Given the description of an element on the screen output the (x, y) to click on. 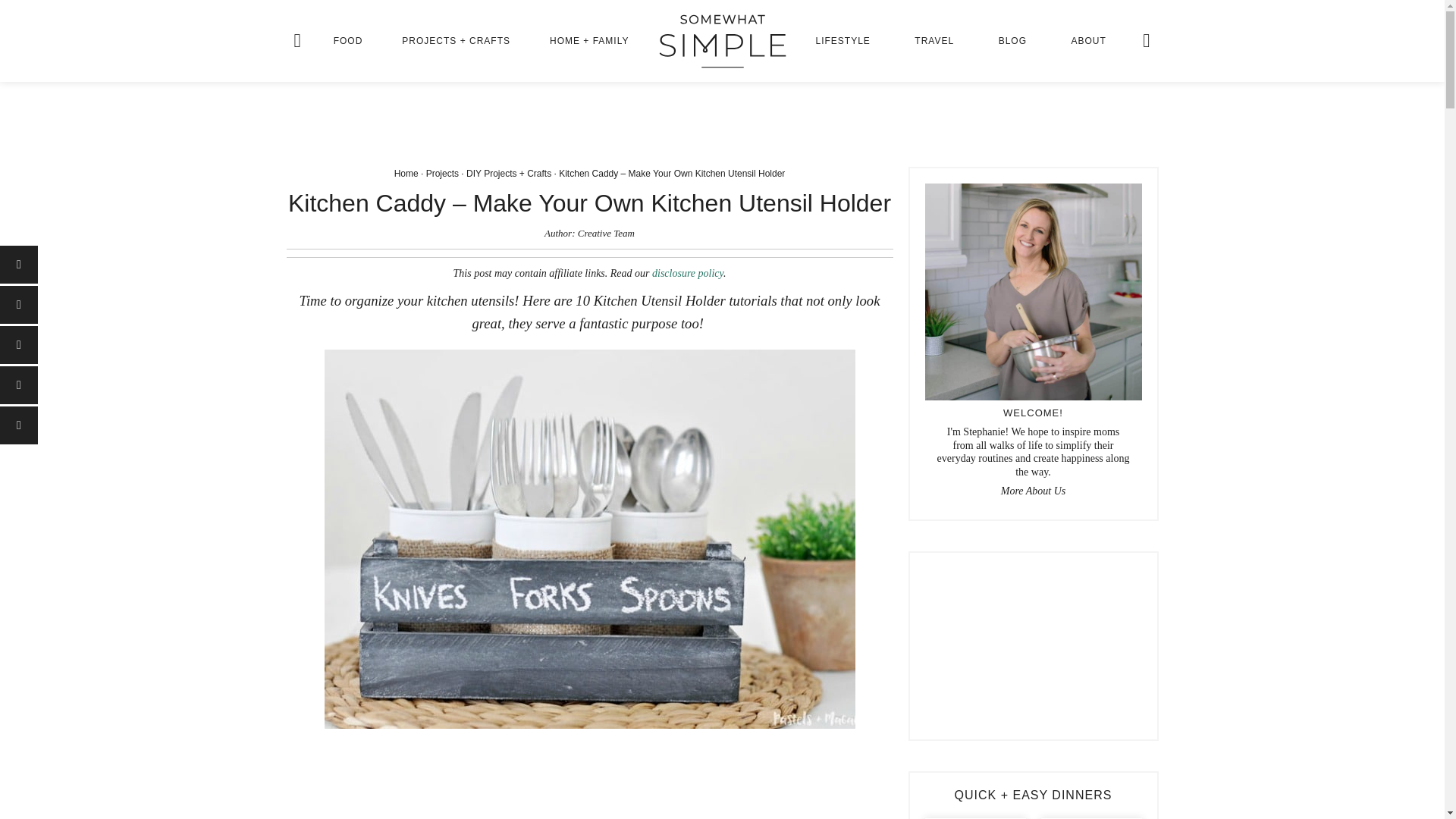
LIFESTYLE (842, 40)
FOOD (347, 40)
BLOG (1012, 40)
ABOUT (1088, 40)
SOMEWHAT SIMPLE (722, 40)
TRAVEL (933, 40)
